Given the description of an element on the screen output the (x, y) to click on. 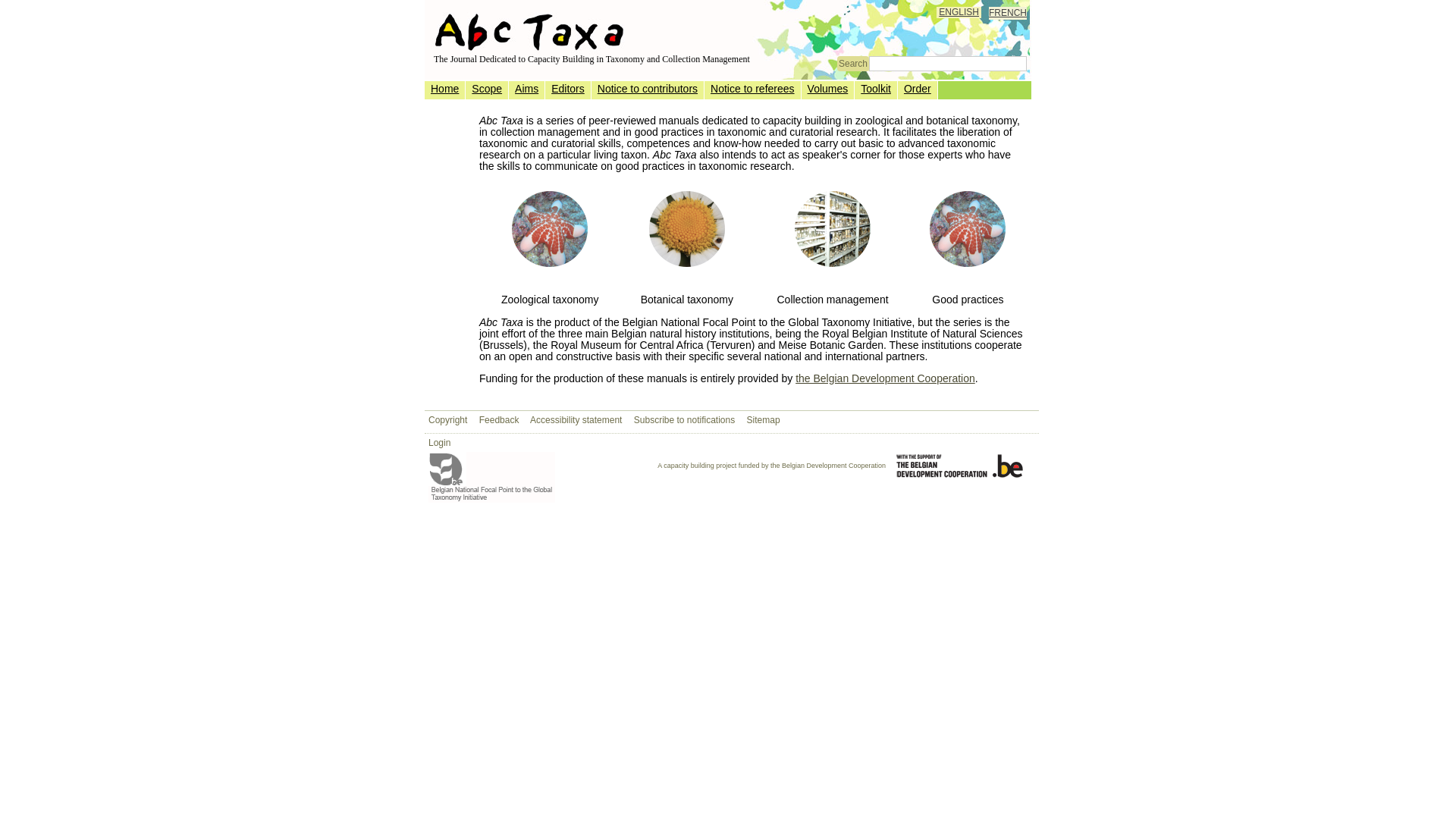
Good practices Element type: hover (967, 228)
logo DGCD Element type: hover (960, 464)
Botanical taxonomy Element type: hover (686, 228)
Subscribe to notifications Element type: text (683, 419)
Home Element type: text (444, 88)
Volumes Element type: text (827, 88)
FRENCH Element type: text (1007, 12)
Scope Element type: text (486, 88)
the Belgian Development Cooperation Element type: text (885, 378)
Aims Element type: text (526, 88)
Notice to contributors Element type: text (647, 88)
Zoological taxonomy Element type: hover (549, 228)
Notice to referees Element type: text (752, 88)
Accessibility statement Element type: text (575, 419)
ENGLISH Element type: text (958, 11)
Sitemap Element type: text (763, 419)
Toolkit Element type: text (875, 88)
Collection management Element type: hover (832, 228)
Feedback Element type: text (499, 419)
Editors Element type: text (567, 88)
Order Element type: text (917, 88)
Search Element type: text (853, 63)
logo GTI Element type: hover (491, 476)
Copyright Element type: text (447, 419)
Login Element type: text (439, 442)
